Given the description of an element on the screen output the (x, y) to click on. 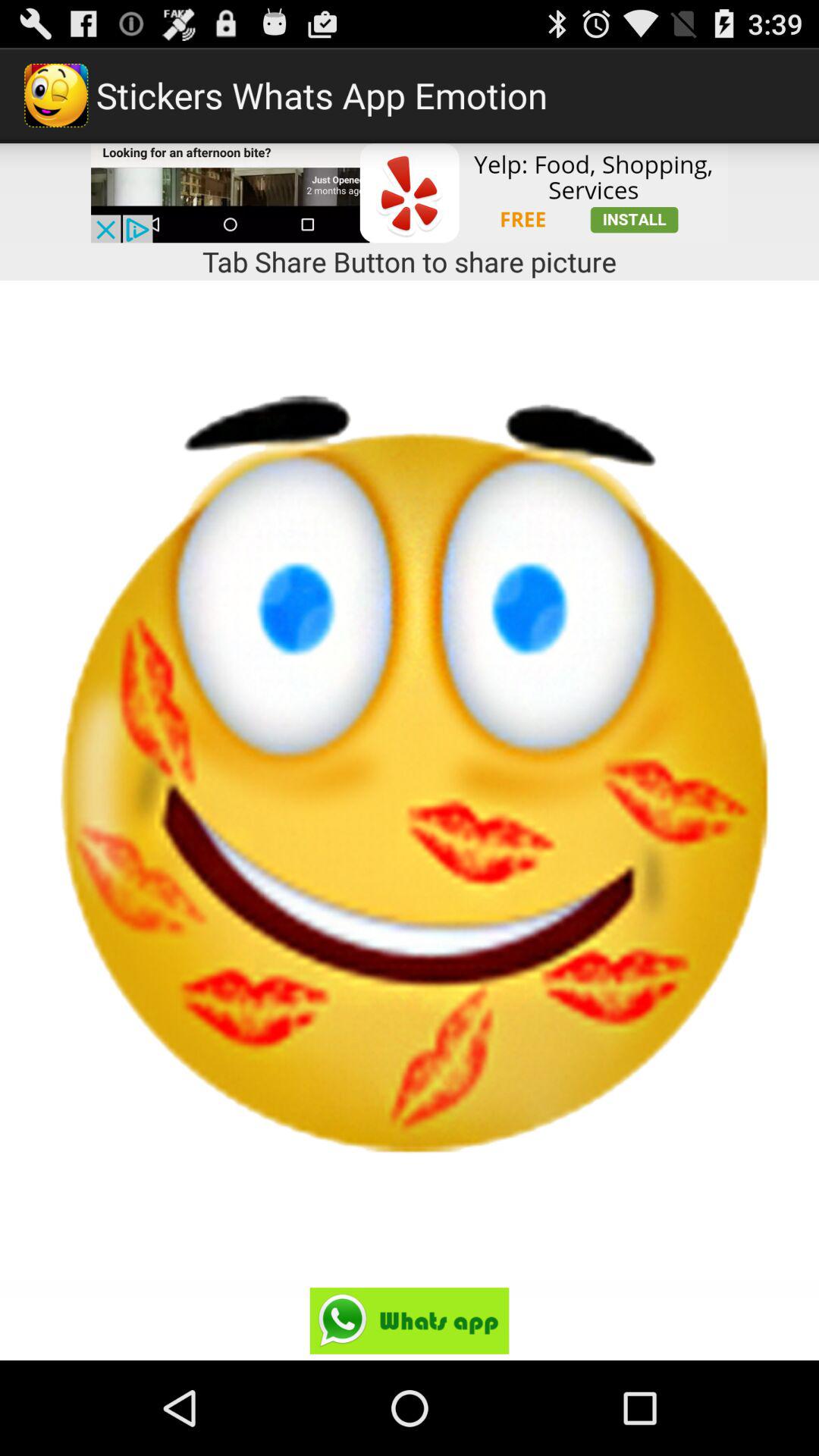
advertisement (409, 192)
